Given the description of an element on the screen output the (x, y) to click on. 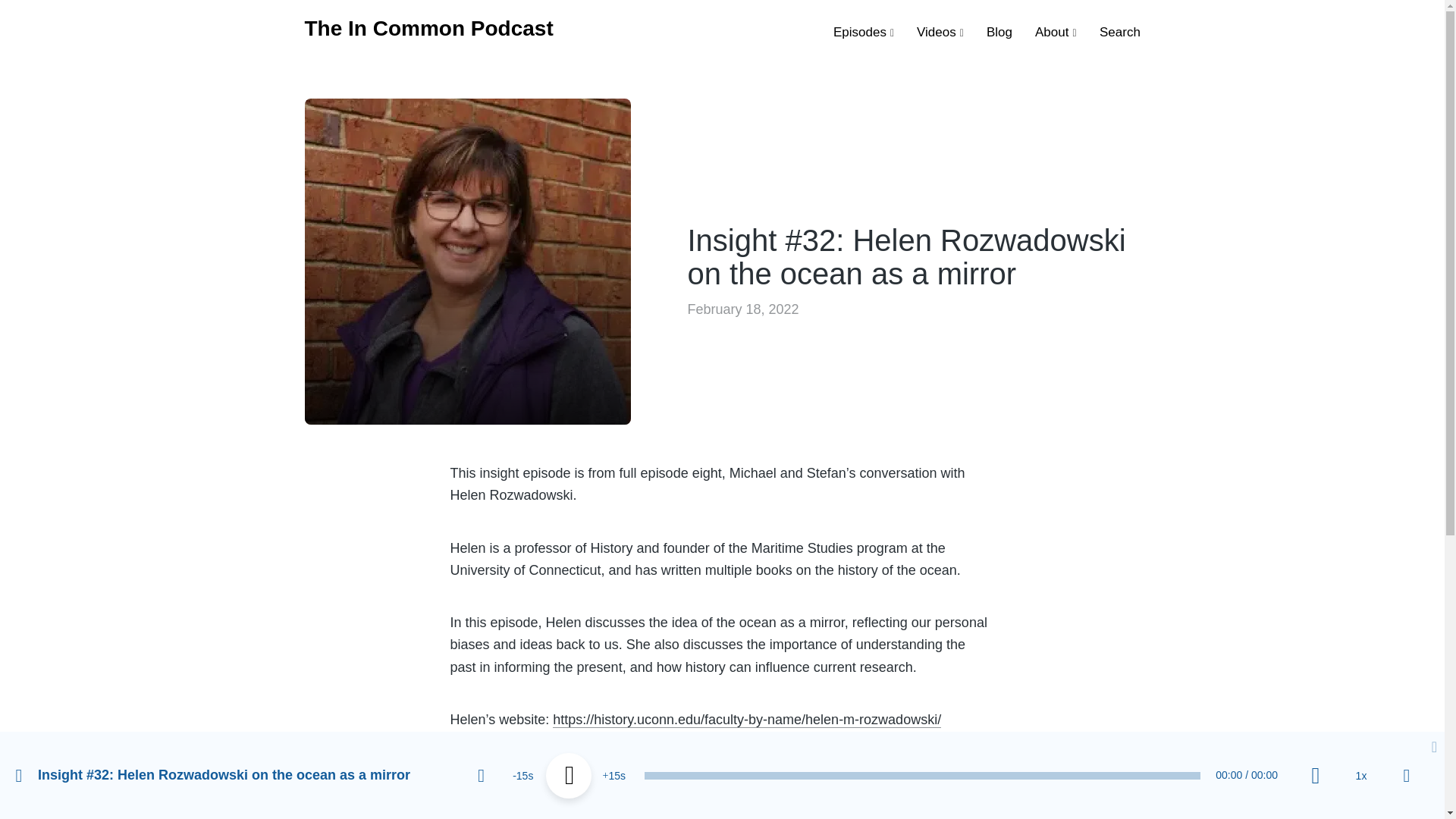
The In Common Podcast (428, 28)
Skip back 15 seconds (523, 774)
Videos (940, 30)
Blog (999, 30)
Mute (1315, 774)
Speed Rate (1361, 774)
share (1406, 774)
Episodes (862, 30)
Play (568, 774)
Jump forward 15 seconds (614, 774)
Search (1119, 30)
About (1056, 30)
